Given the description of an element on the screen output the (x, y) to click on. 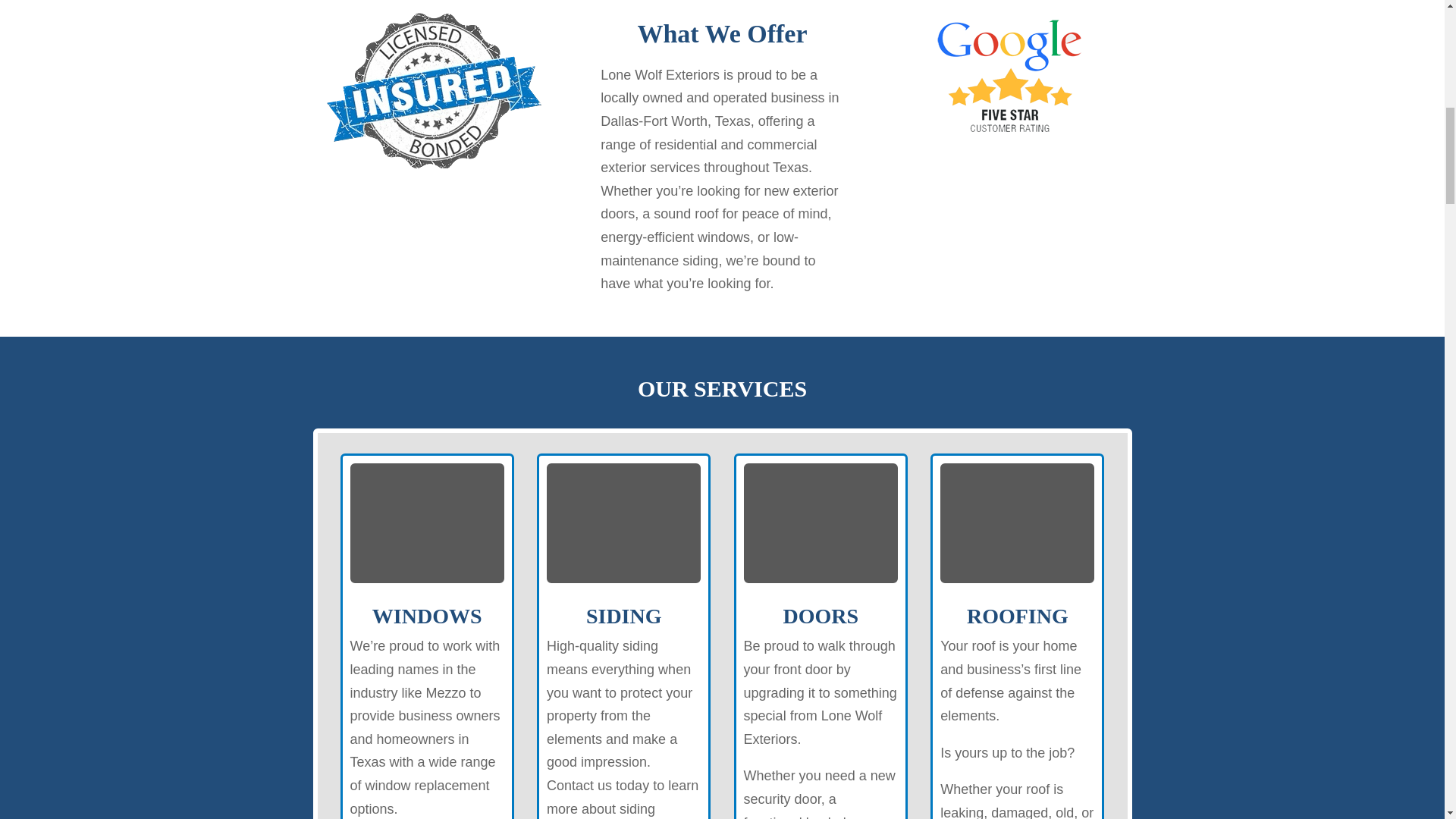
window replacement licensed insured bonded (433, 90)
google-5-stars-rating (1010, 76)
